Given the description of an element on the screen output the (x, y) to click on. 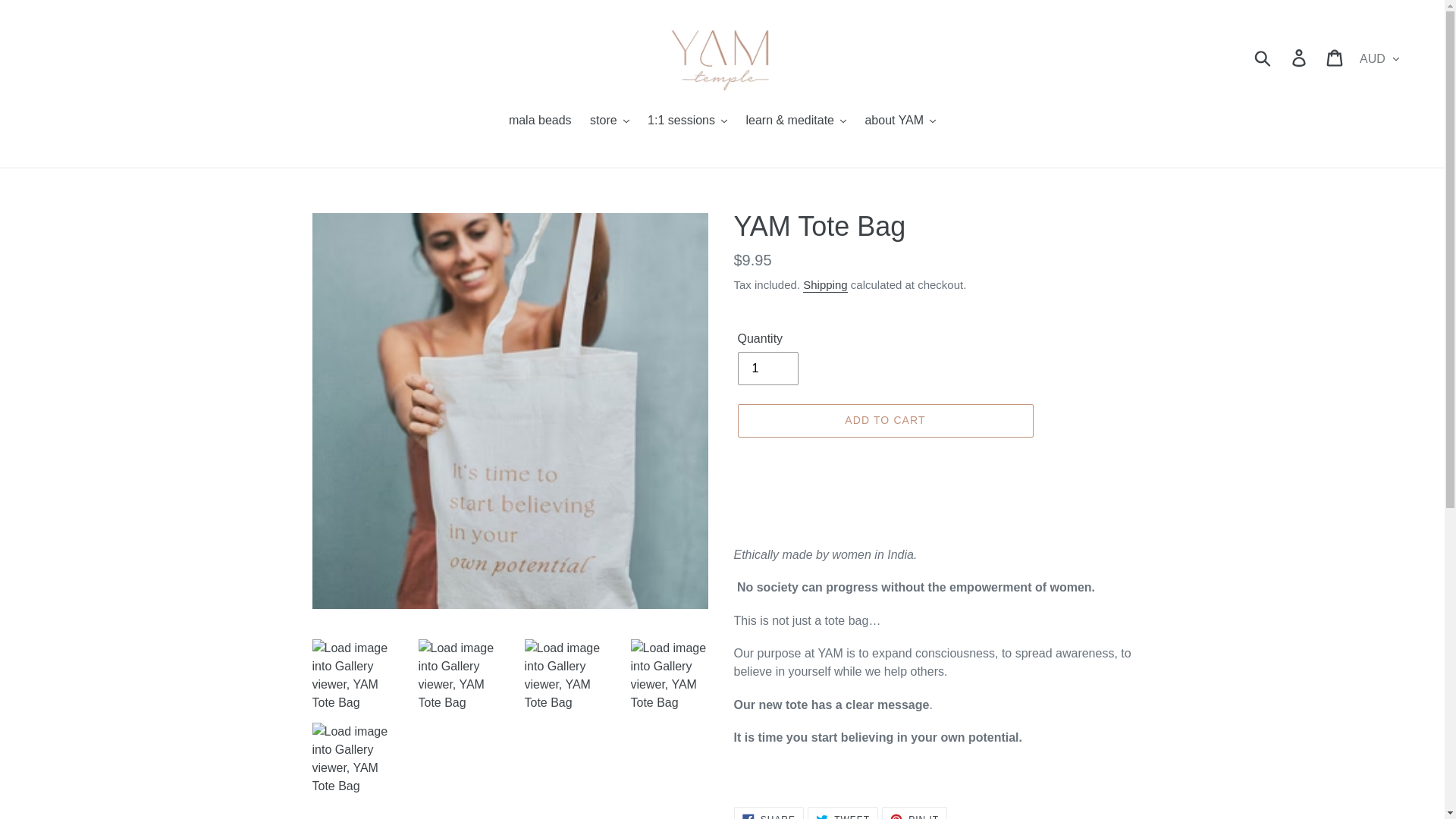
Cart (1335, 57)
mala beads (539, 121)
Log in (1299, 57)
1 (766, 368)
Submit (1263, 57)
